Given the description of an element on the screen output the (x, y) to click on. 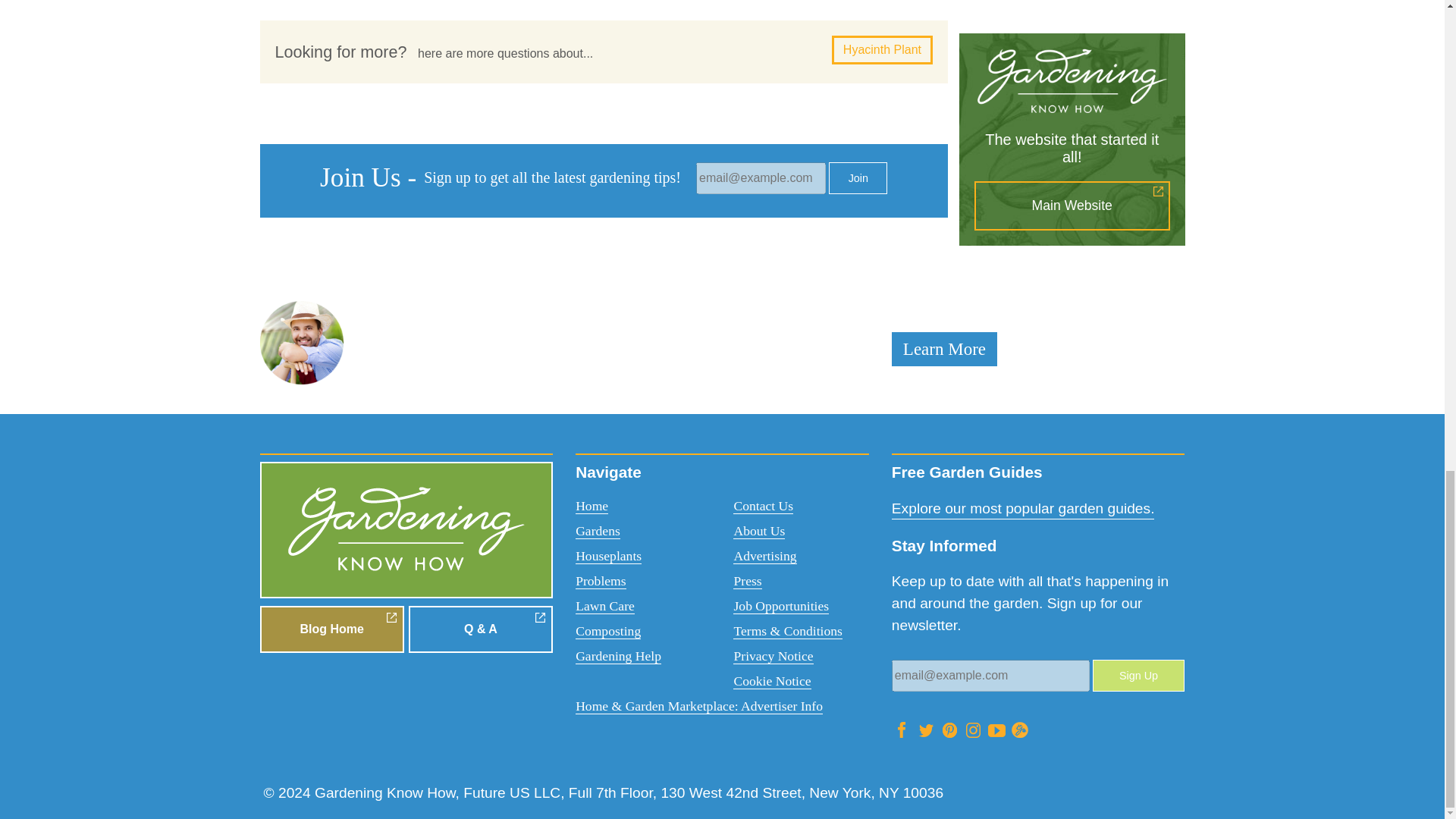
Hyacinth Plant (882, 50)
Join (857, 178)
